Given the description of an element on the screen output the (x, y) to click on. 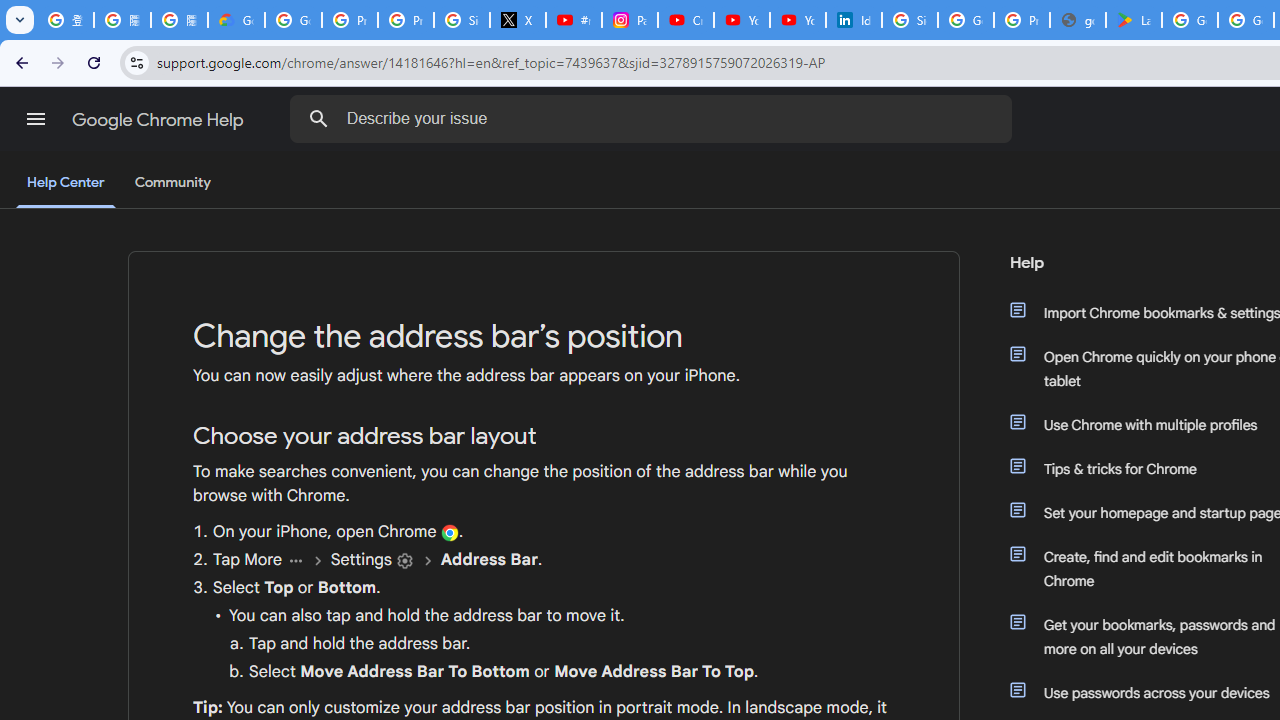
and then (427, 560)
Identity verification via Persona | LinkedIn Help (853, 20)
Last Shelter: Survival - Apps on Google Play (1133, 20)
Sign in - Google Accounts (909, 20)
